Given the description of an element on the screen output the (x, y) to click on. 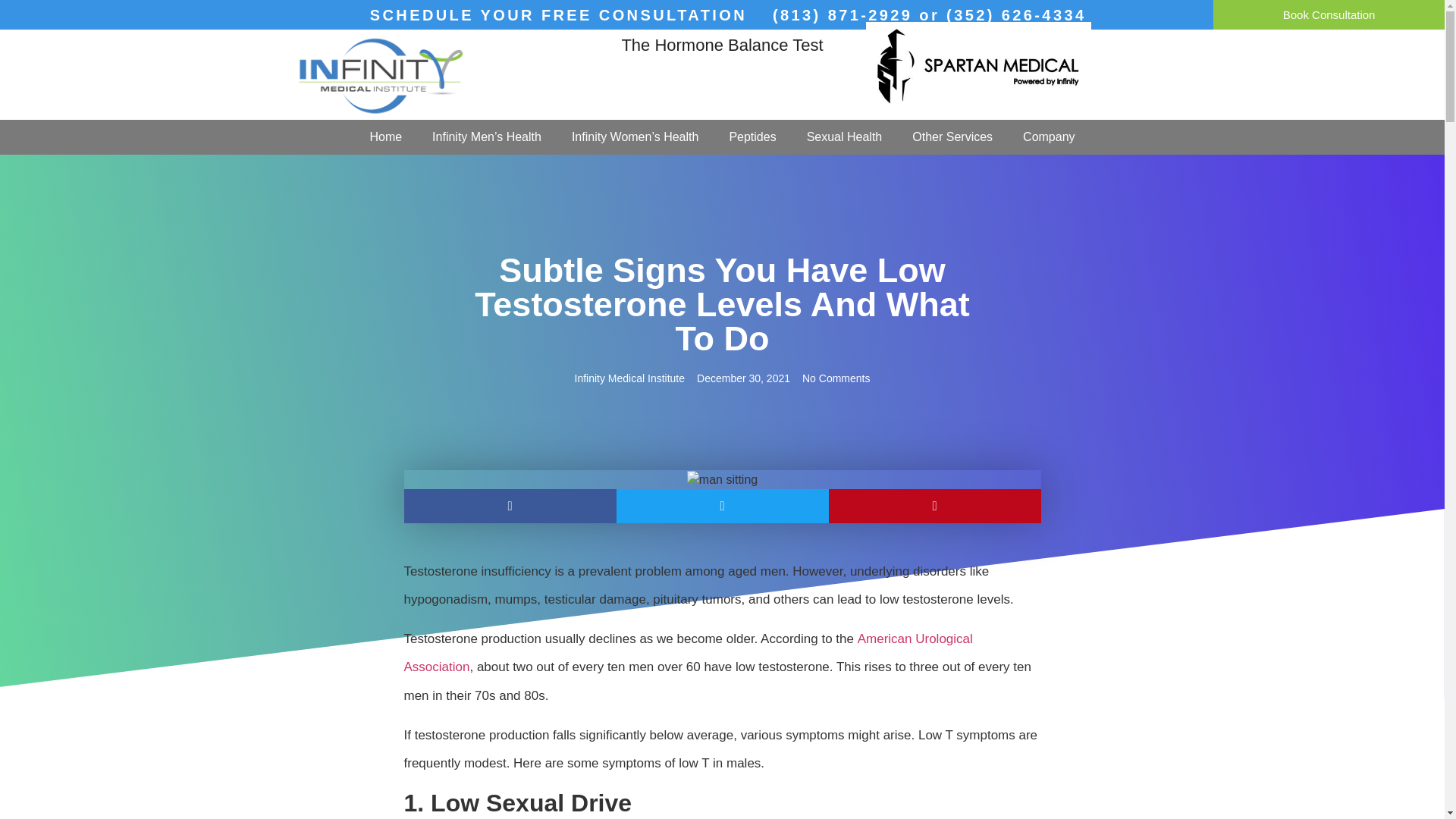
Other Services (951, 136)
Peptides (751, 136)
Home (384, 136)
man sitting (722, 479)
Sexual Health (845, 136)
